Given the description of an element on the screen output the (x, y) to click on. 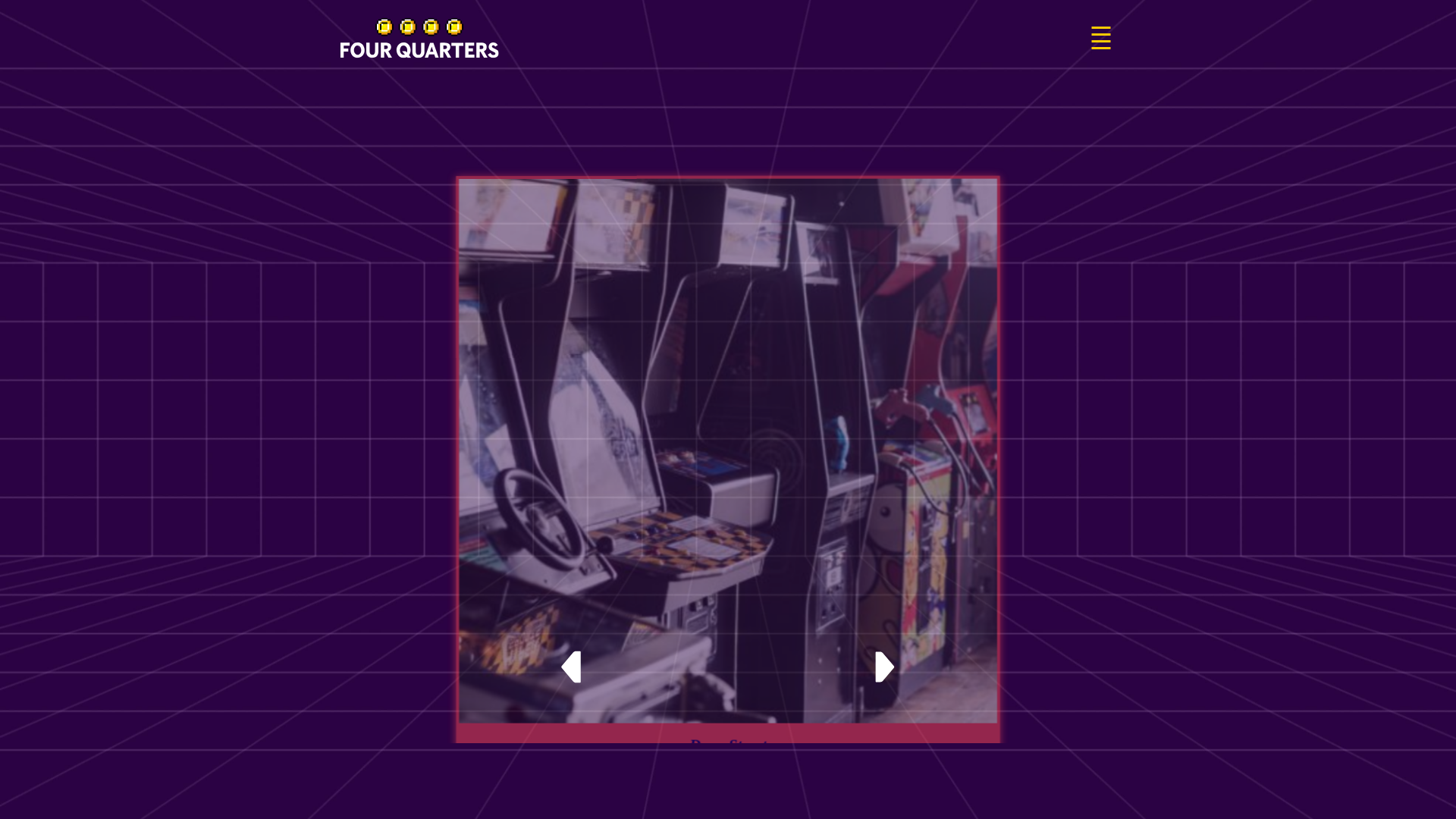
Dean Street Element type: text (840, 757)
